Given the description of an element on the screen output the (x, y) to click on. 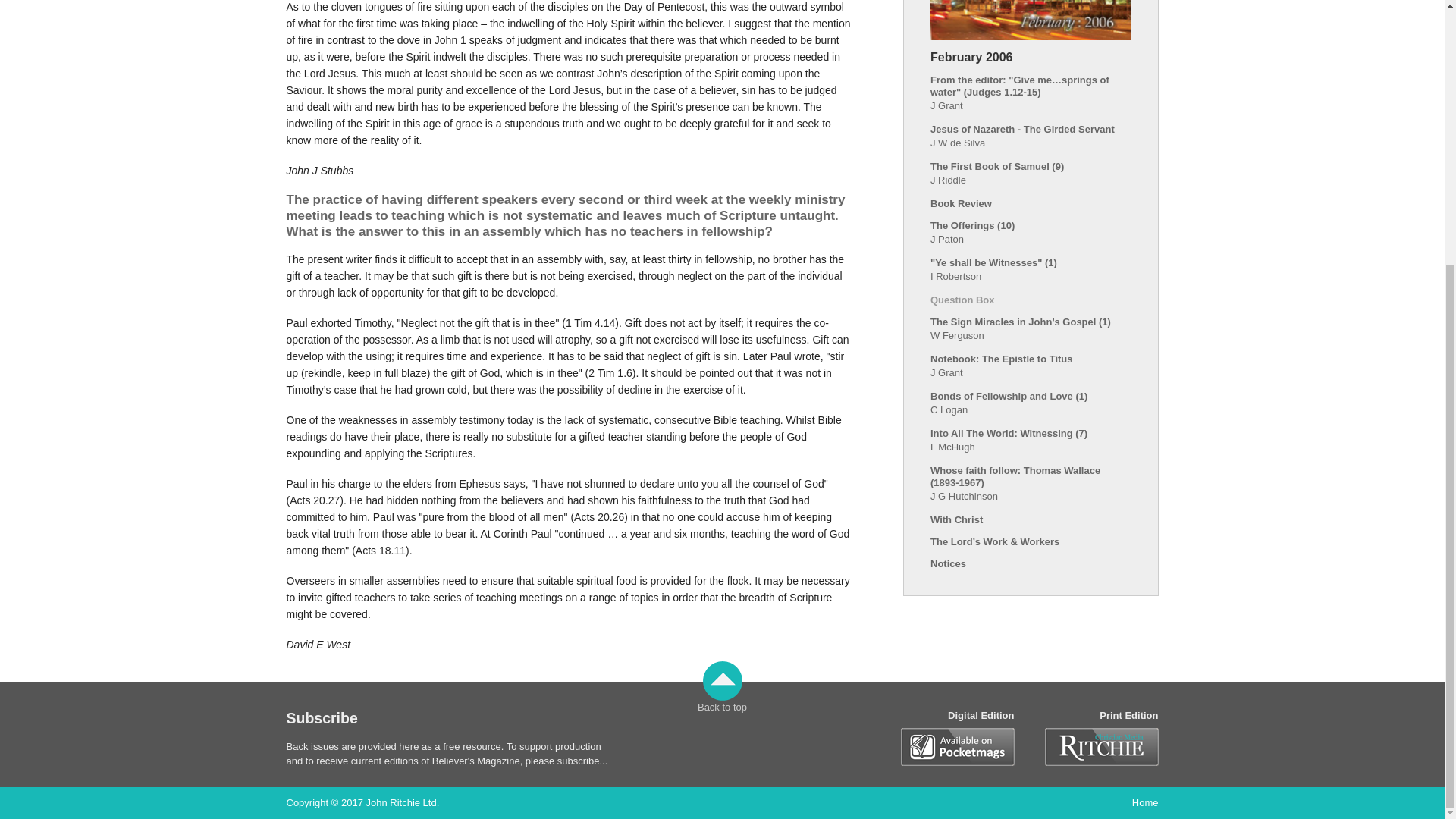
Book Review (960, 203)
Jesus of Nazareth - The Girded Servant (1022, 129)
Notebook: The Epistle to Titus (1001, 358)
Question Box (962, 299)
